Given the description of an element on the screen output the (x, y) to click on. 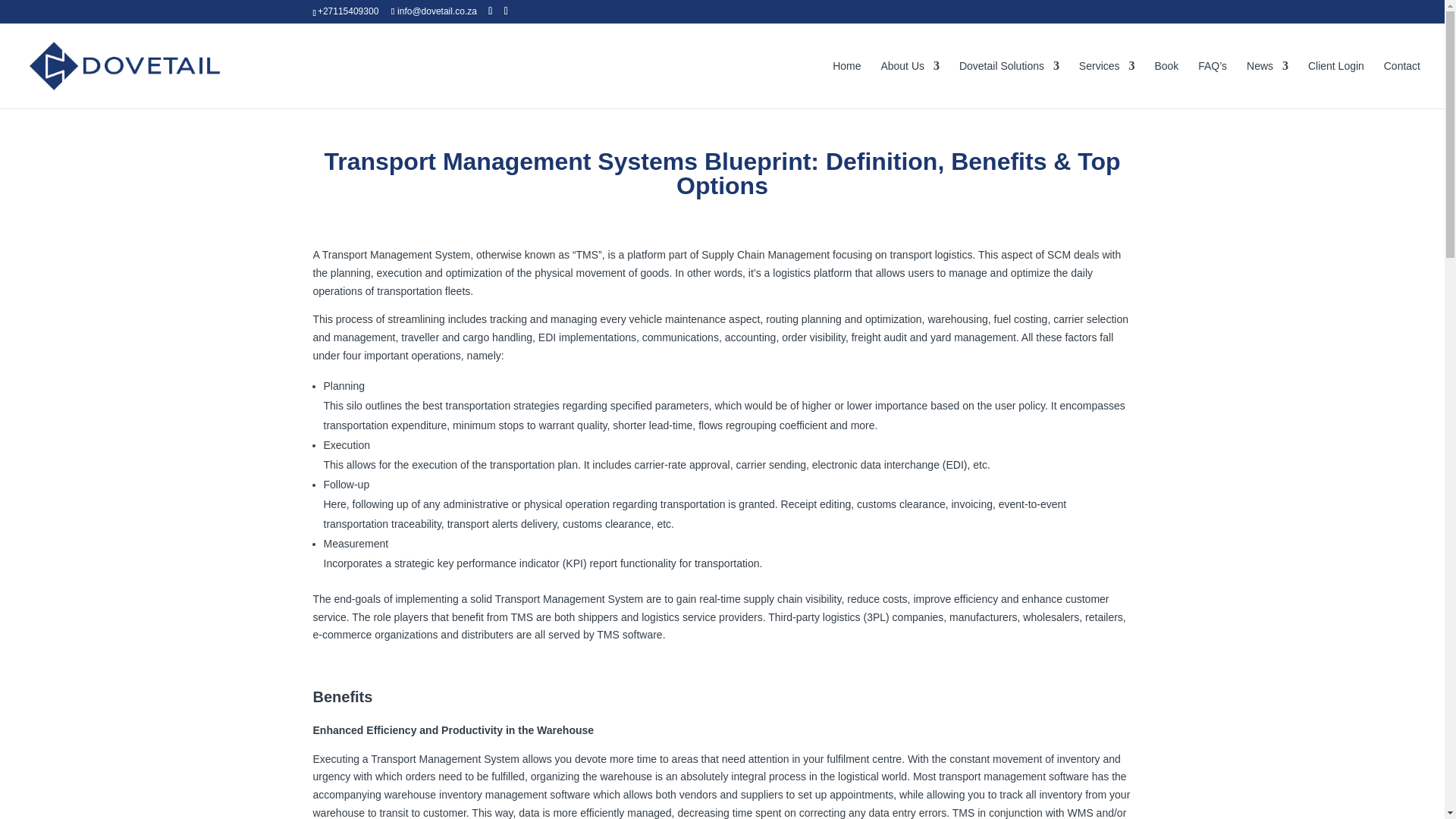
Services (1106, 84)
Dovetail Solutions (1009, 84)
About Us (909, 84)
